Given the description of an element on the screen output the (x, y) to click on. 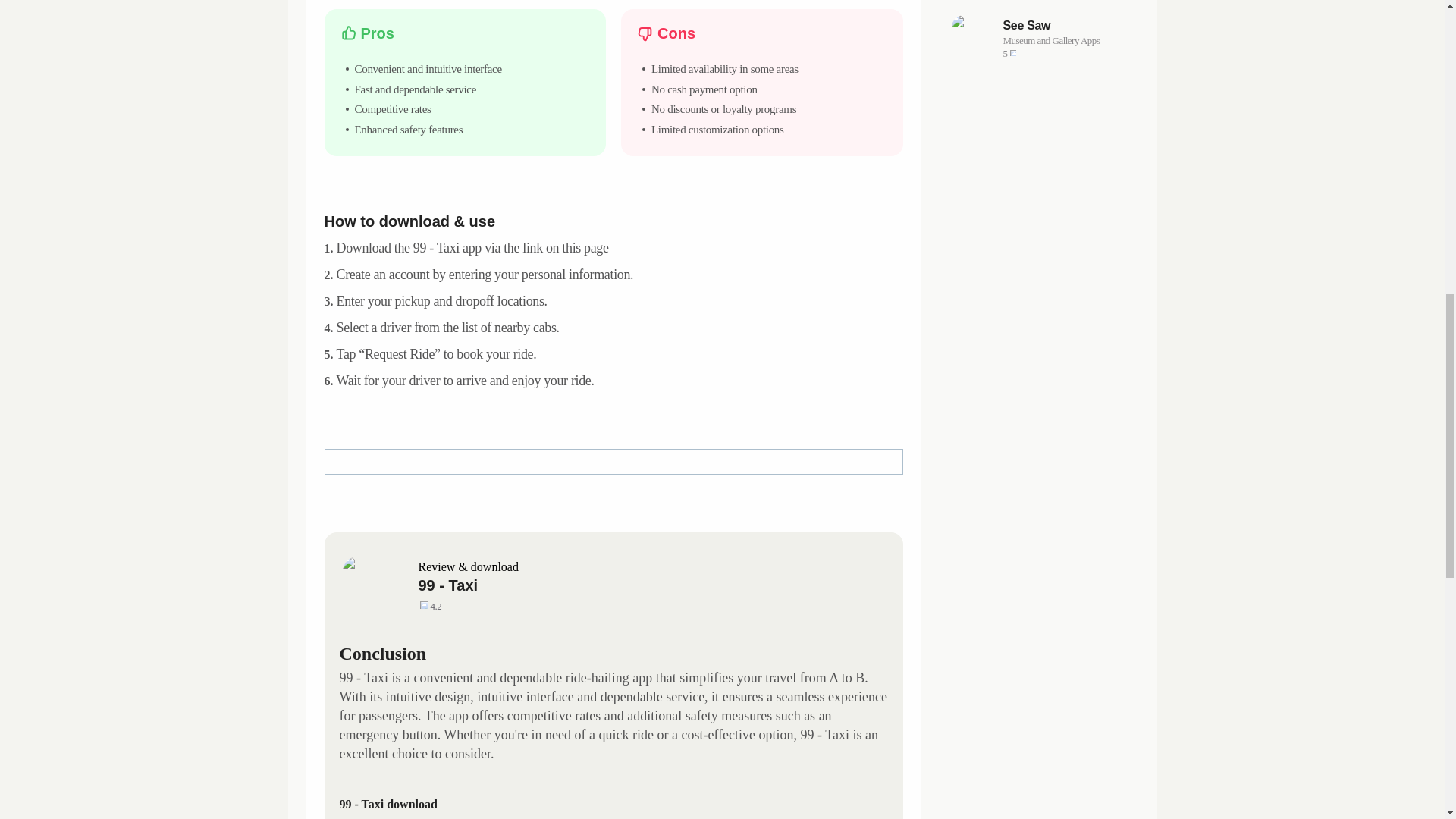
See Saw (1041, 37)
Museum and Gallery Apps (1067, 25)
